Given the description of an element on the screen output the (x, y) to click on. 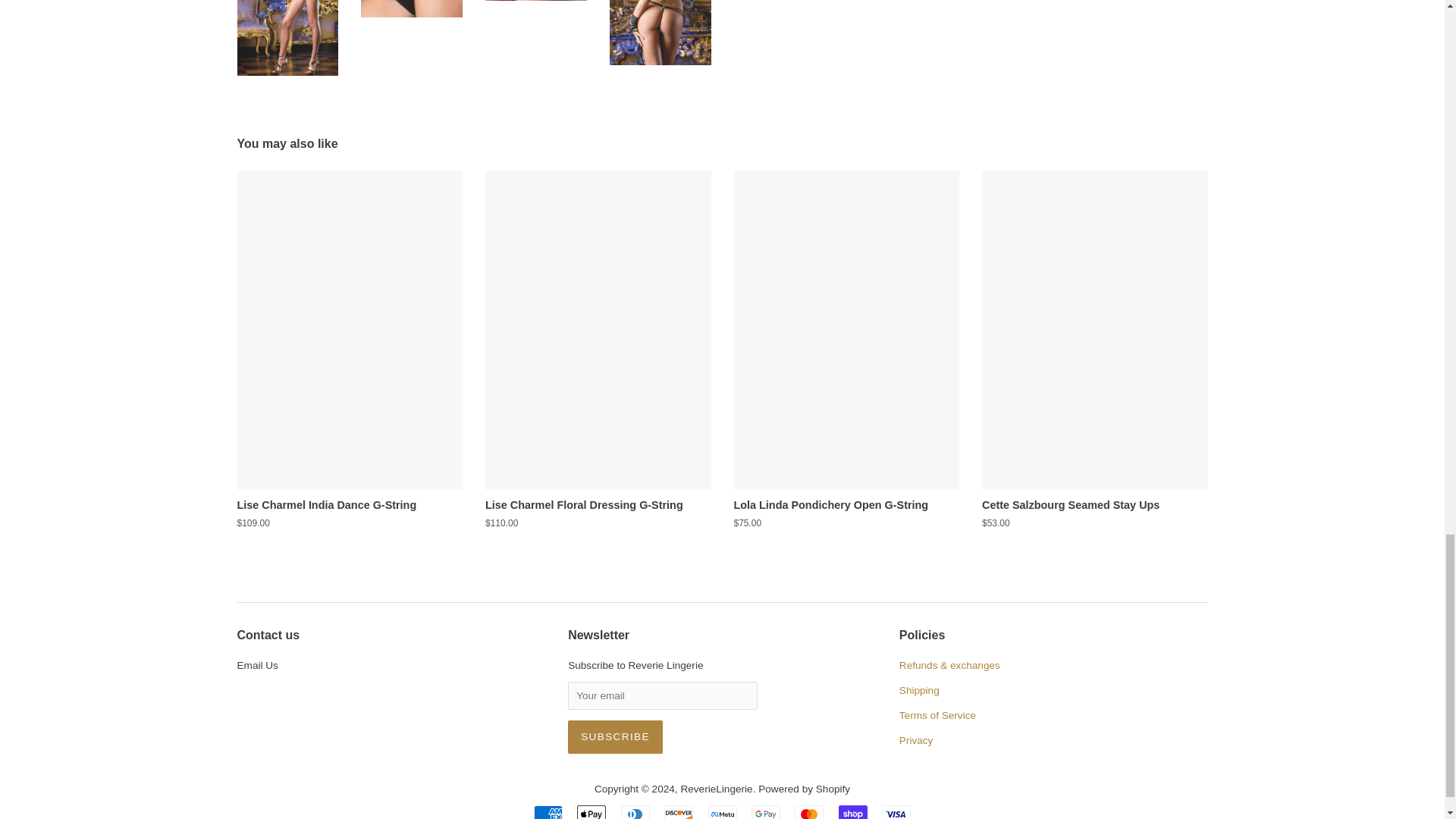
Apple Pay (590, 812)
Discover (678, 812)
Refund Policy (949, 665)
Visa (896, 812)
Terms of Service (937, 715)
American Express (548, 812)
Diners Club (635, 812)
Google Pay (765, 812)
Subscribe (614, 736)
Shop Pay (852, 812)
Privacy Policy (916, 740)
Shipping Policy (919, 690)
Meta Pay (721, 812)
Mastercard (809, 812)
